Given the description of an element on the screen output the (x, y) to click on. 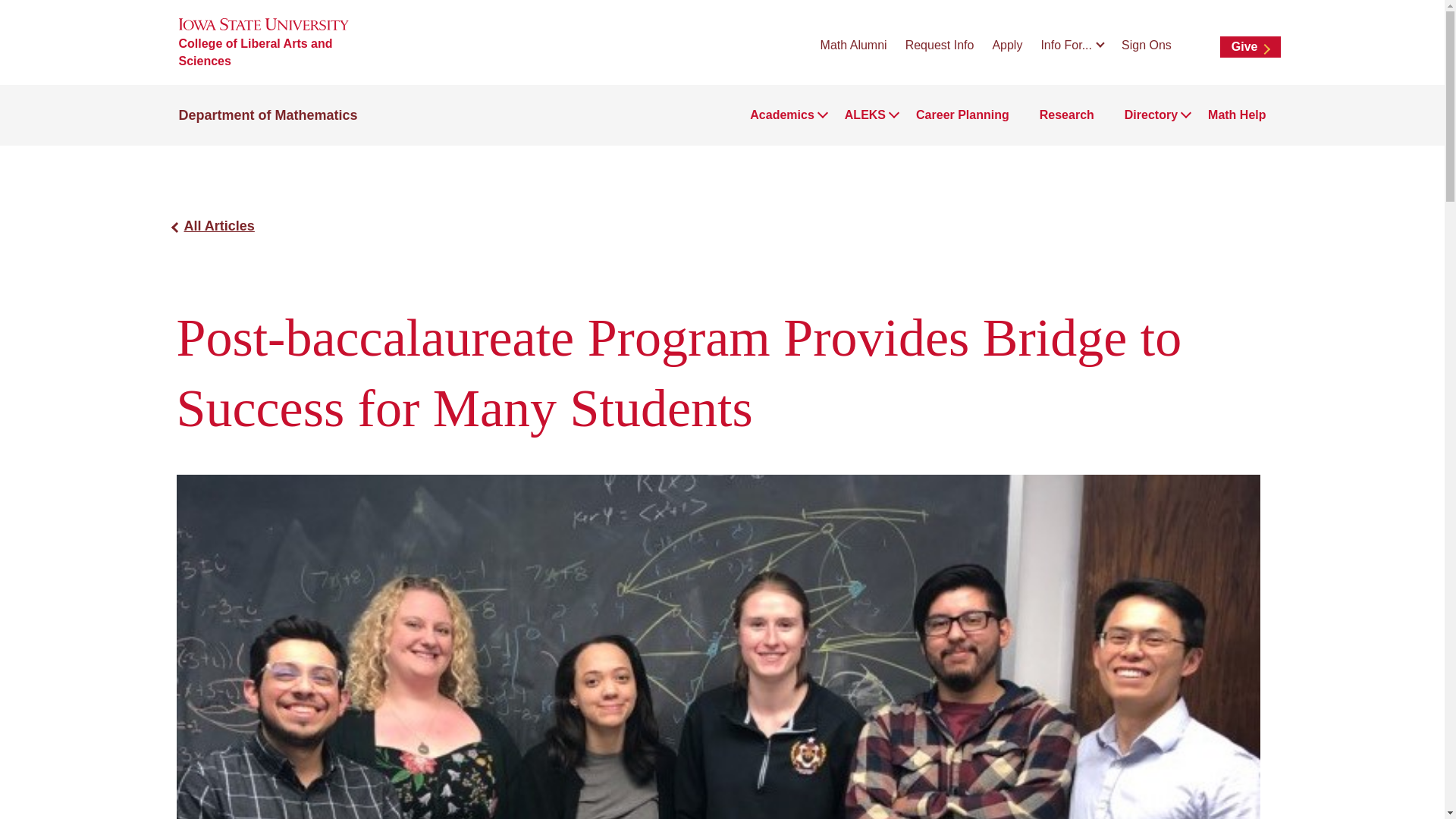
Academics (781, 115)
Info For... (1072, 44)
ALEKS (864, 115)
Request Info (939, 43)
Research (1066, 115)
Sign Ons (1146, 43)
Career Planning (962, 115)
Directory (1150, 115)
Give (1250, 46)
Department of Mathematics (268, 114)
